Given the description of an element on the screen output the (x, y) to click on. 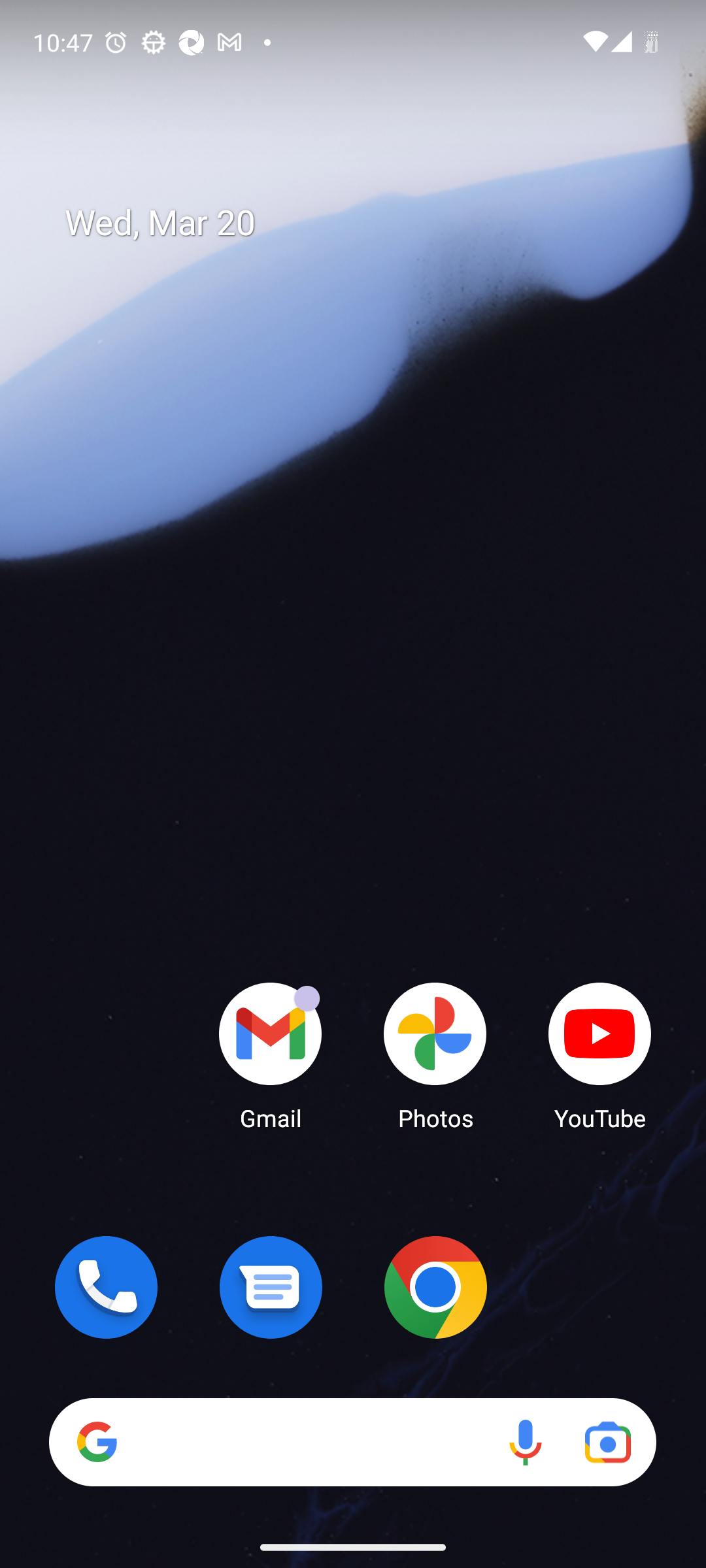
Wed, Mar 20 (366, 223)
Gmail Gmail has 22 notifications (270, 1054)
Photos (435, 1054)
YouTube (599, 1054)
Phone (106, 1287)
Messages (270, 1287)
Chrome (435, 1287)
Voice search (525, 1441)
Google Lens (607, 1441)
